Given the description of an element on the screen output the (x, y) to click on. 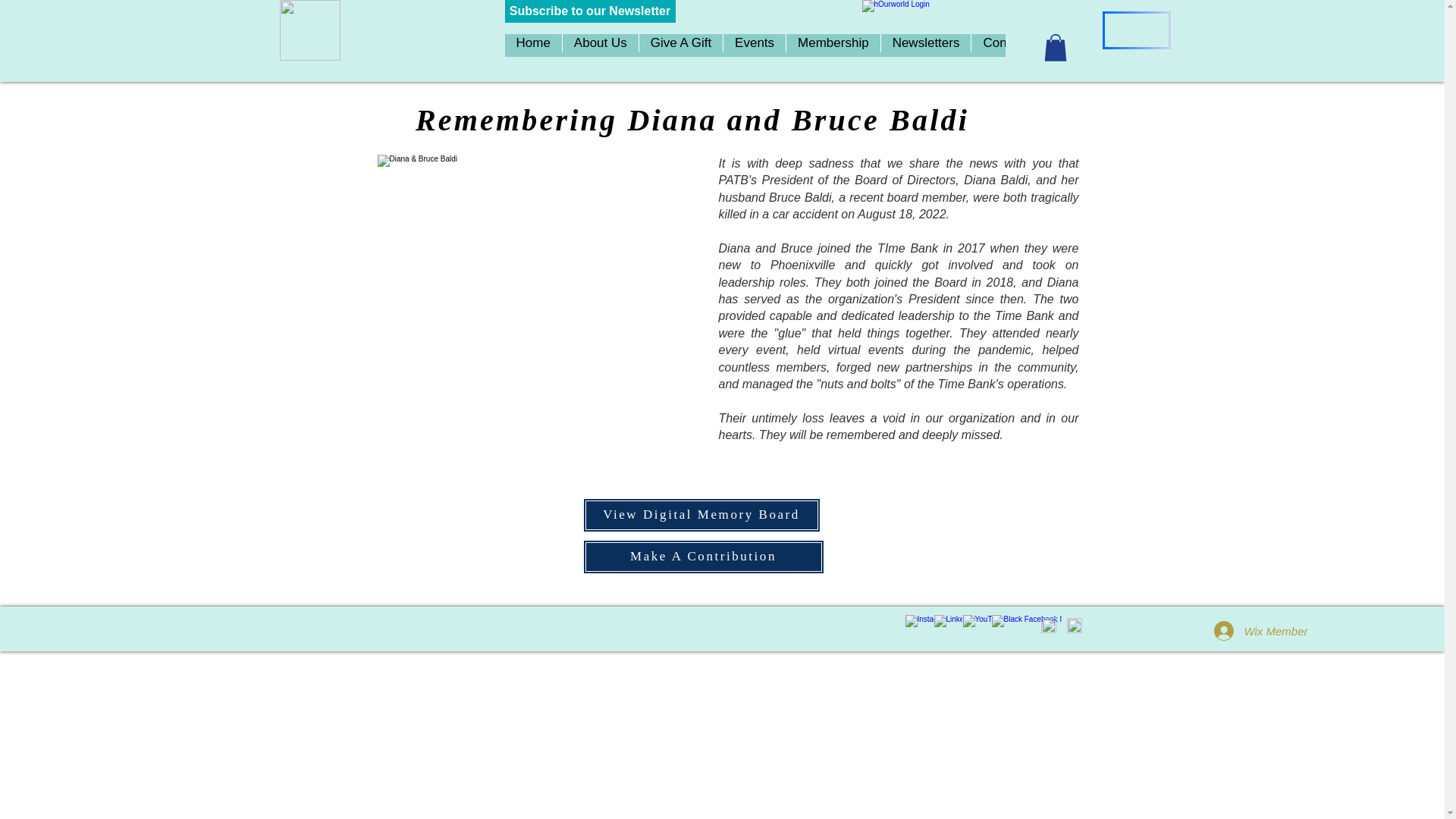
View Digital Memory Board (700, 514)
Make A Contribution (703, 556)
Membership (833, 45)
bruce and diana baldi resized.jpg (538, 316)
Contact Us (1014, 45)
Give A Gift (680, 45)
Newsletters (925, 45)
Wix Member (1242, 630)
Home (533, 45)
Subscribe to our Newsletter (590, 11)
